Given the description of an element on the screen output the (x, y) to click on. 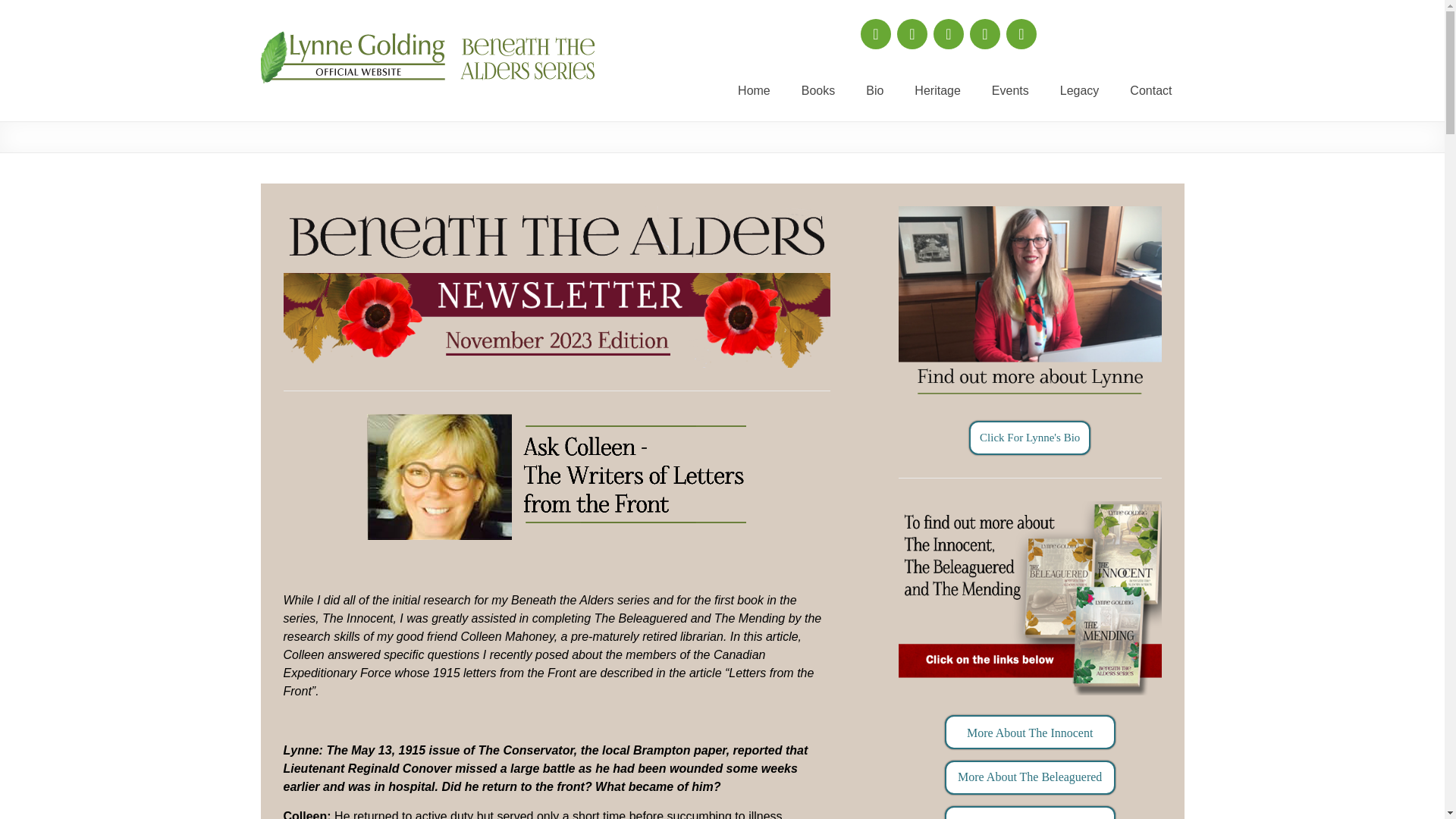
More About The Beleaguered (1029, 777)
Heritage (936, 90)
More About The Innocent (1029, 731)
YouTube (1021, 33)
Home (754, 90)
Instagram (948, 33)
Legacy (1079, 90)
LinkedIn (984, 33)
More About The Mending (1029, 812)
Twitter (911, 33)
Facebook (875, 33)
Events (1010, 90)
Click For Lynne's Bio (1029, 437)
Books (818, 90)
Contact (1150, 90)
